Given the description of an element on the screen output the (x, y) to click on. 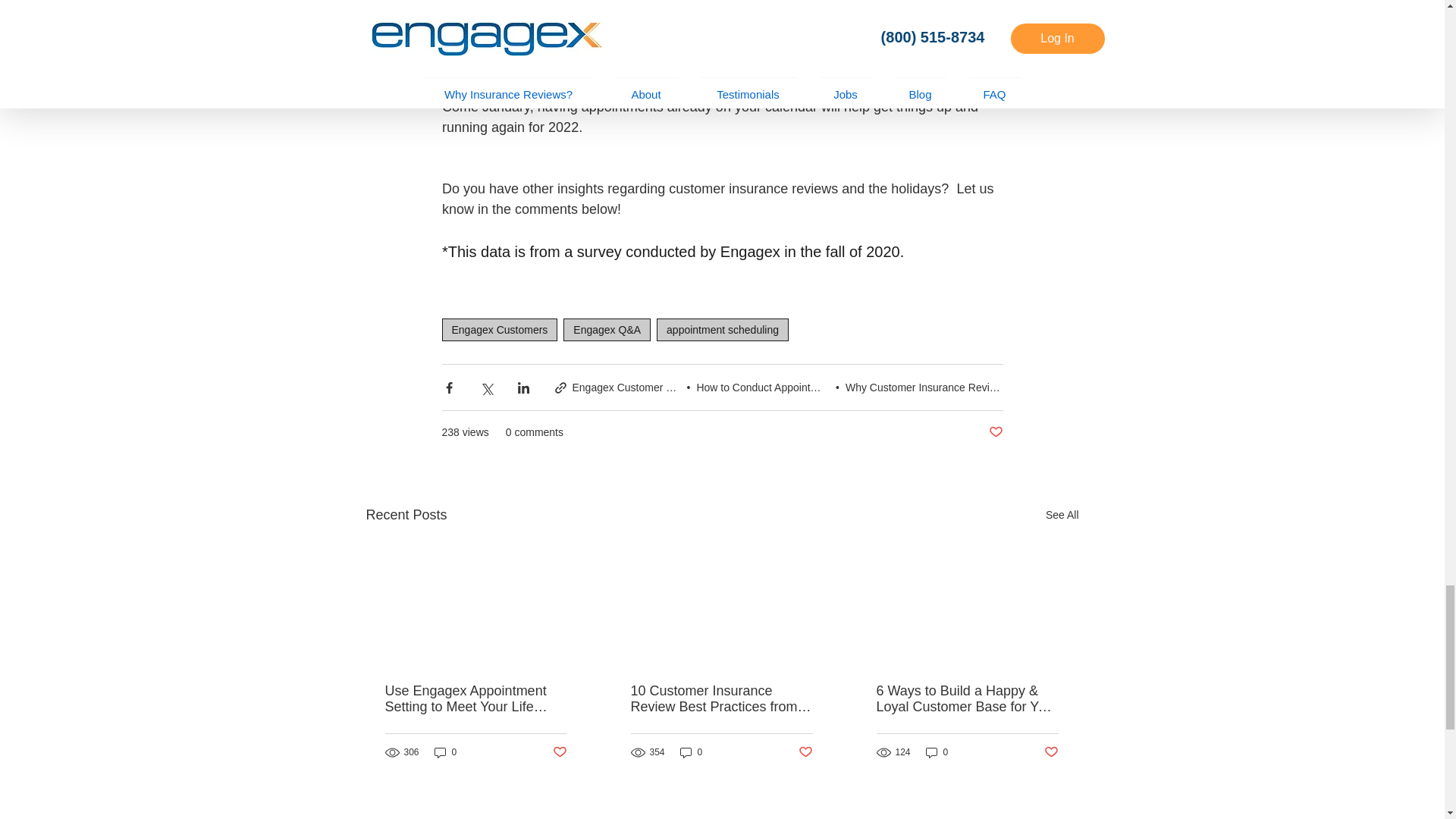
Post not marked as liked (995, 432)
How to Conduct Appointments (766, 387)
Post not marked as liked (804, 752)
Engagex Customers (499, 329)
appointment scheduling (722, 329)
0 (445, 752)
Why Customer Insurance Reviews? (929, 387)
See All (1061, 515)
0 (691, 752)
Post not marked as liked (558, 752)
